Given the description of an element on the screen output the (x, y) to click on. 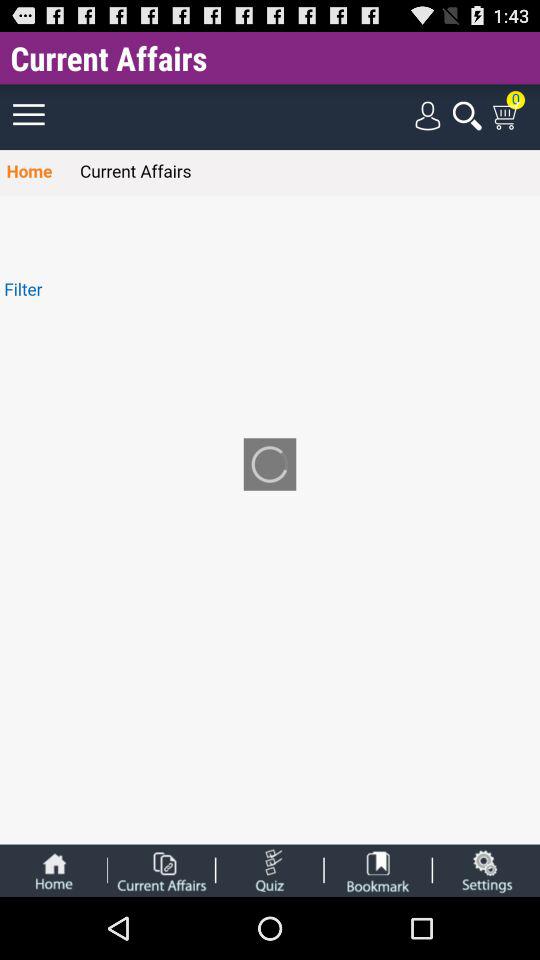
take a quiz (269, 870)
